Given the description of an element on the screen output the (x, y) to click on. 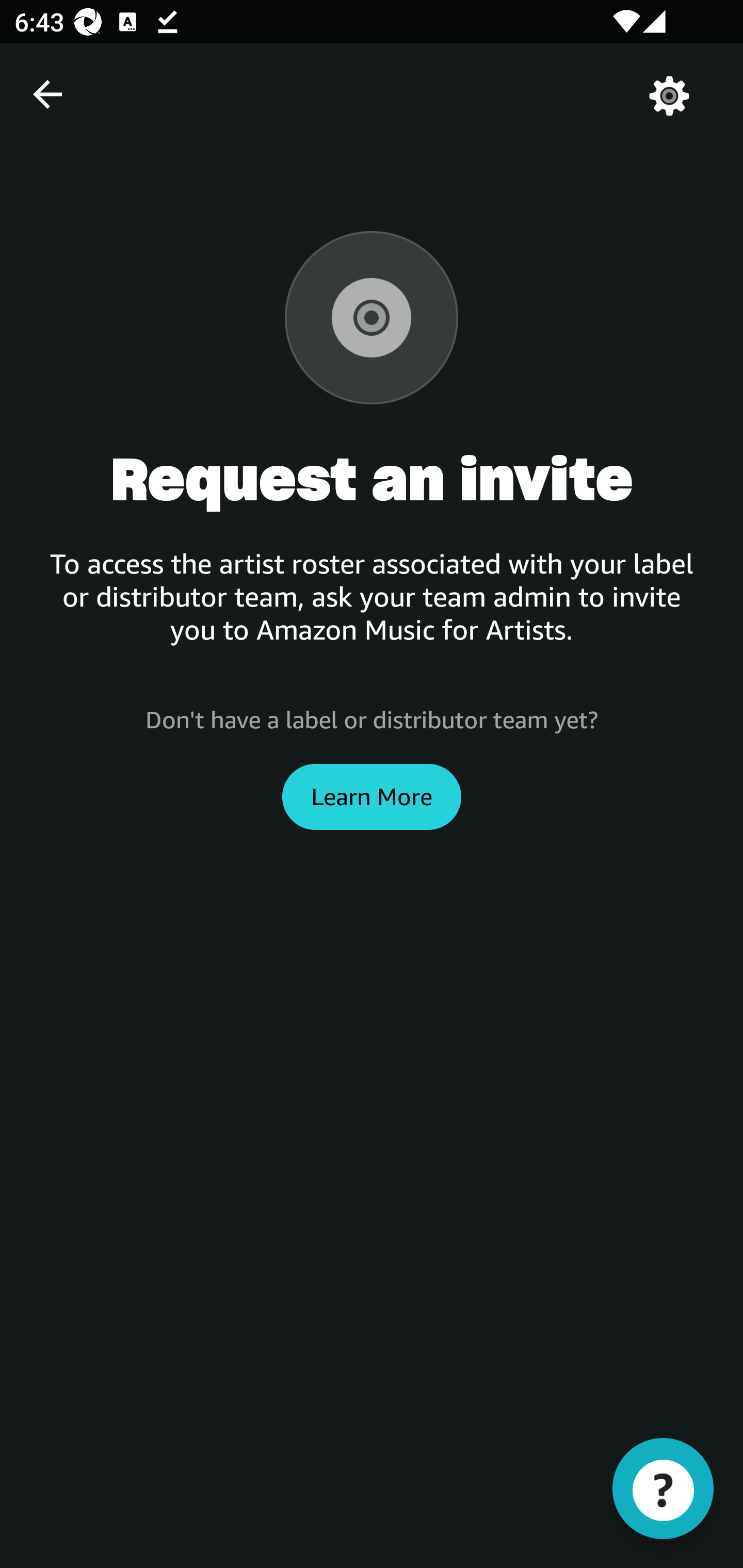
Learn more button Learn More (371, 796)
